Given the description of an element on the screen output the (x, y) to click on. 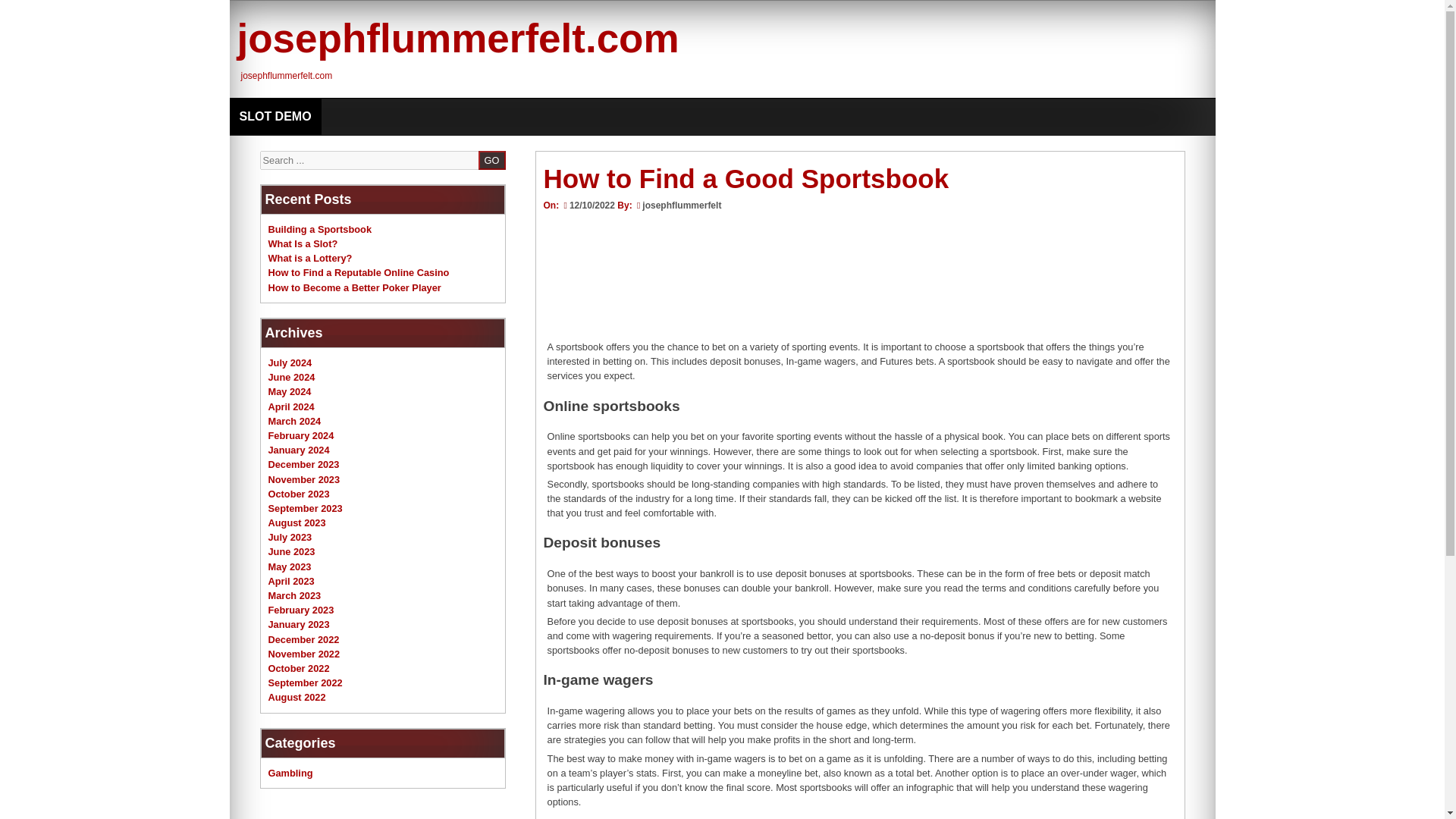
December 2023 (303, 464)
June 2024 (291, 377)
April 2024 (290, 406)
June 2023 (291, 551)
September 2022 (304, 682)
April 2023 (290, 581)
josephflummerfelt.com (456, 37)
What is a Lottery? (309, 257)
March 2024 (294, 420)
March 2023 (294, 595)
What Is a Slot? (302, 243)
December 2022 (303, 639)
May 2023 (289, 566)
GO (492, 158)
July 2024 (290, 362)
